Given the description of an element on the screen output the (x, y) to click on. 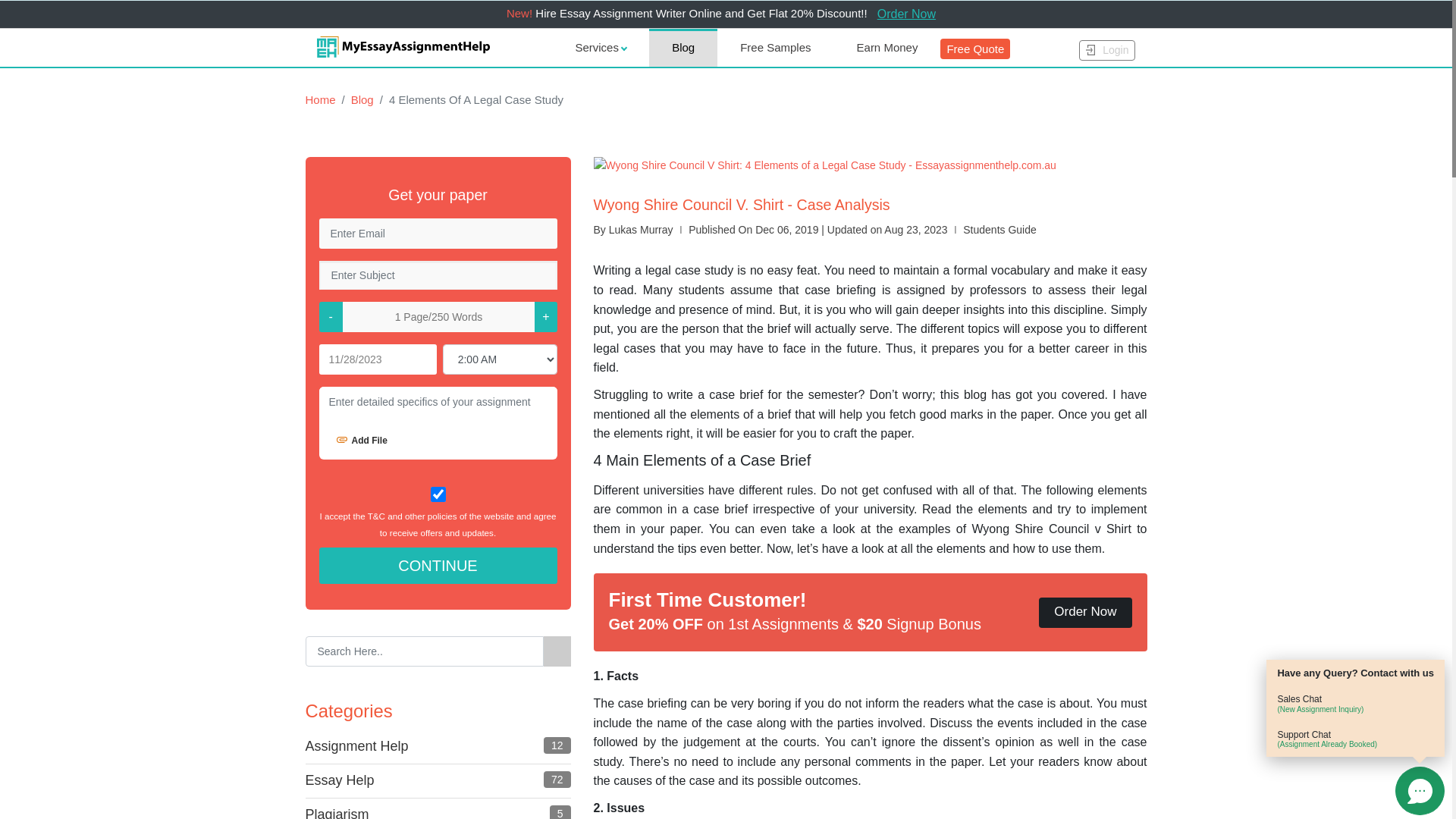
- Element type: text (330, 316)
By Lukas Murray Element type: text (632, 229)
Home Element type: text (319, 100)
Order Now Element type: text (906, 14)
Add File Element type: text (361, 440)
Earn Money Element type: text (887, 47)
Essay Help Element type: text (338, 779)
Blog Element type: text (683, 47)
Free Quote Element type: text (975, 48)
Free Samples Element type: text (775, 47)
Login Element type: text (1107, 50)
Blog Element type: text (354, 100)
Services Element type: text (600, 47)
Order Now Element type: text (1084, 612)
Published On Dec 06, 2019 | Updated on Aug 23, 2023 Element type: text (817, 229)
+ Element type: text (545, 316)
Students Guide Element type: text (999, 229)
Assignment Help Element type: text (355, 745)
CONTINUE Element type: text (437, 565)
